Given the description of an element on the screen output the (x, y) to click on. 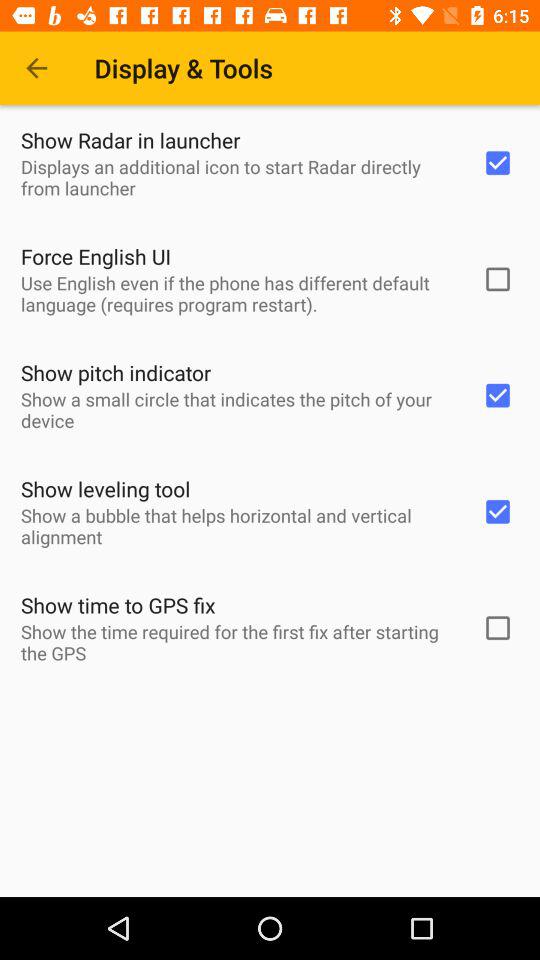
press the icon above force english ui (238, 177)
